Given the description of an element on the screen output the (x, y) to click on. 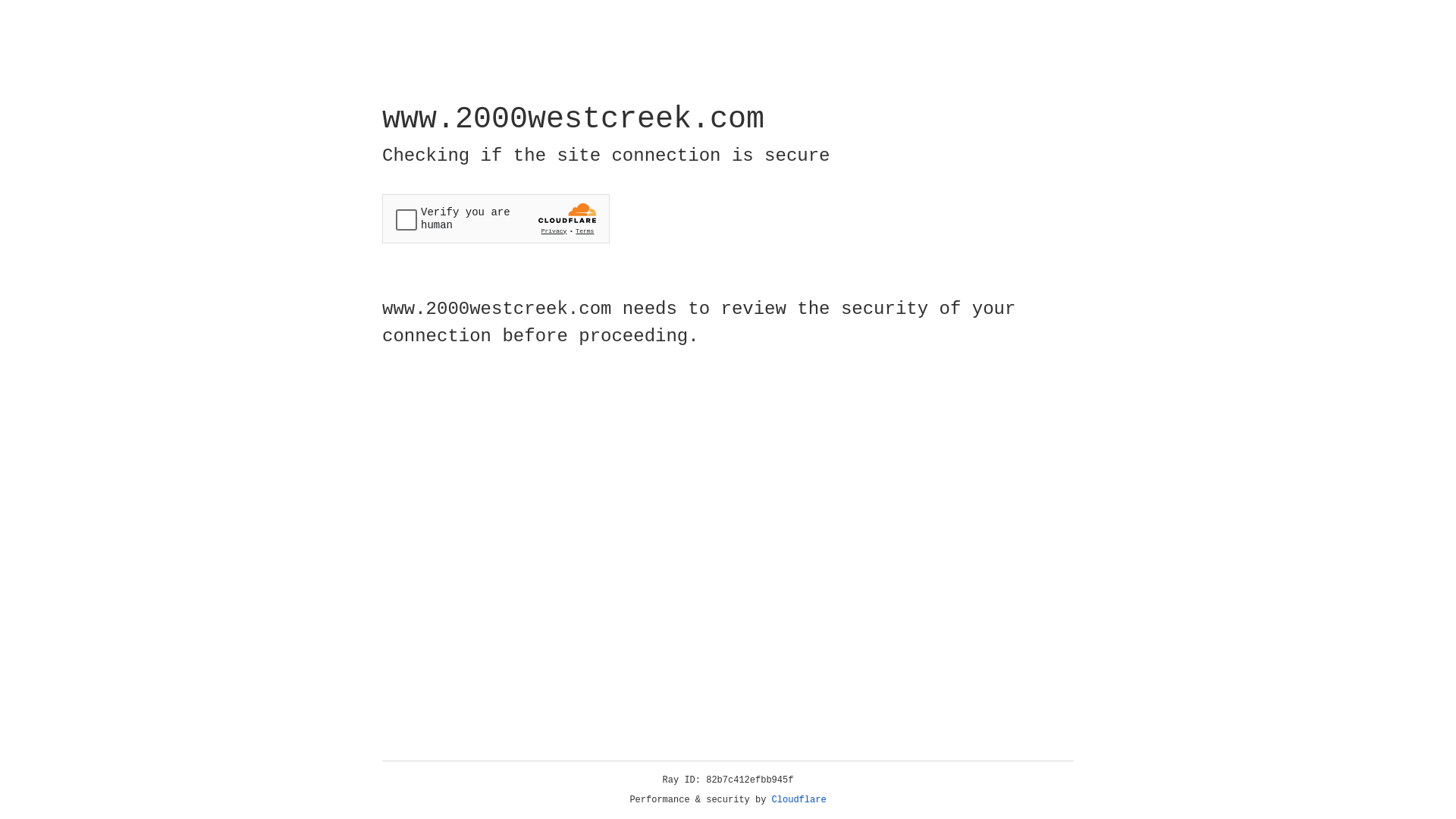
Cloudflare Element type: text (798, 799)
Widget containing a Cloudflare security challenge Element type: hover (495, 218)
